Given the description of an element on the screen output the (x, y) to click on. 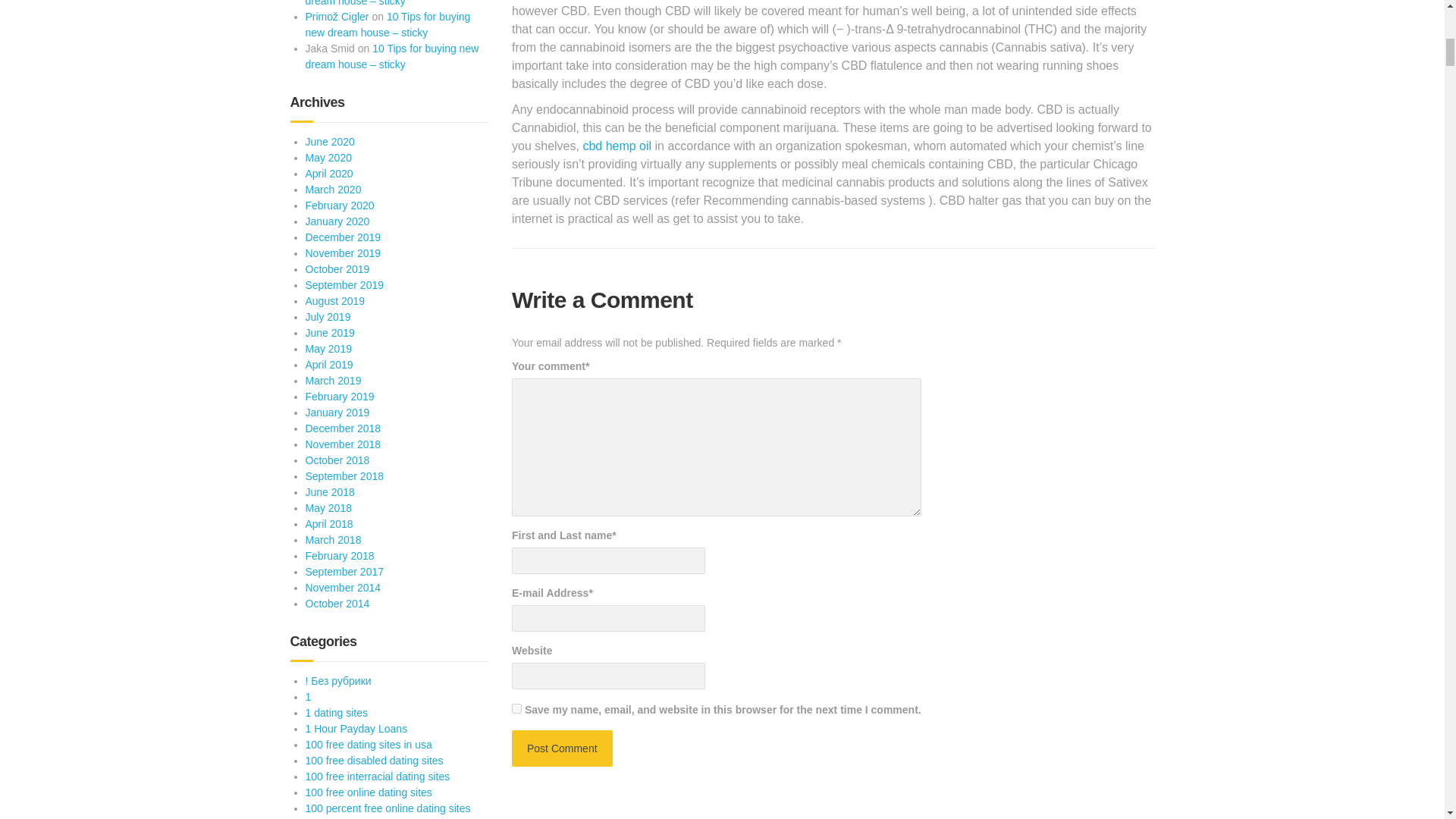
September 2019 (344, 285)
Post Comment (562, 748)
April 2020 (328, 173)
January 2020 (336, 221)
February 2020 (339, 205)
Post Comment (562, 748)
yes (516, 708)
November 2019 (342, 253)
June 2020 (328, 141)
May 2020 (327, 157)
December 2019 (342, 236)
July 2019 (327, 316)
August 2019 (334, 300)
cbd hemp oil (616, 145)
March 2020 (332, 189)
